Given the description of an element on the screen output the (x, y) to click on. 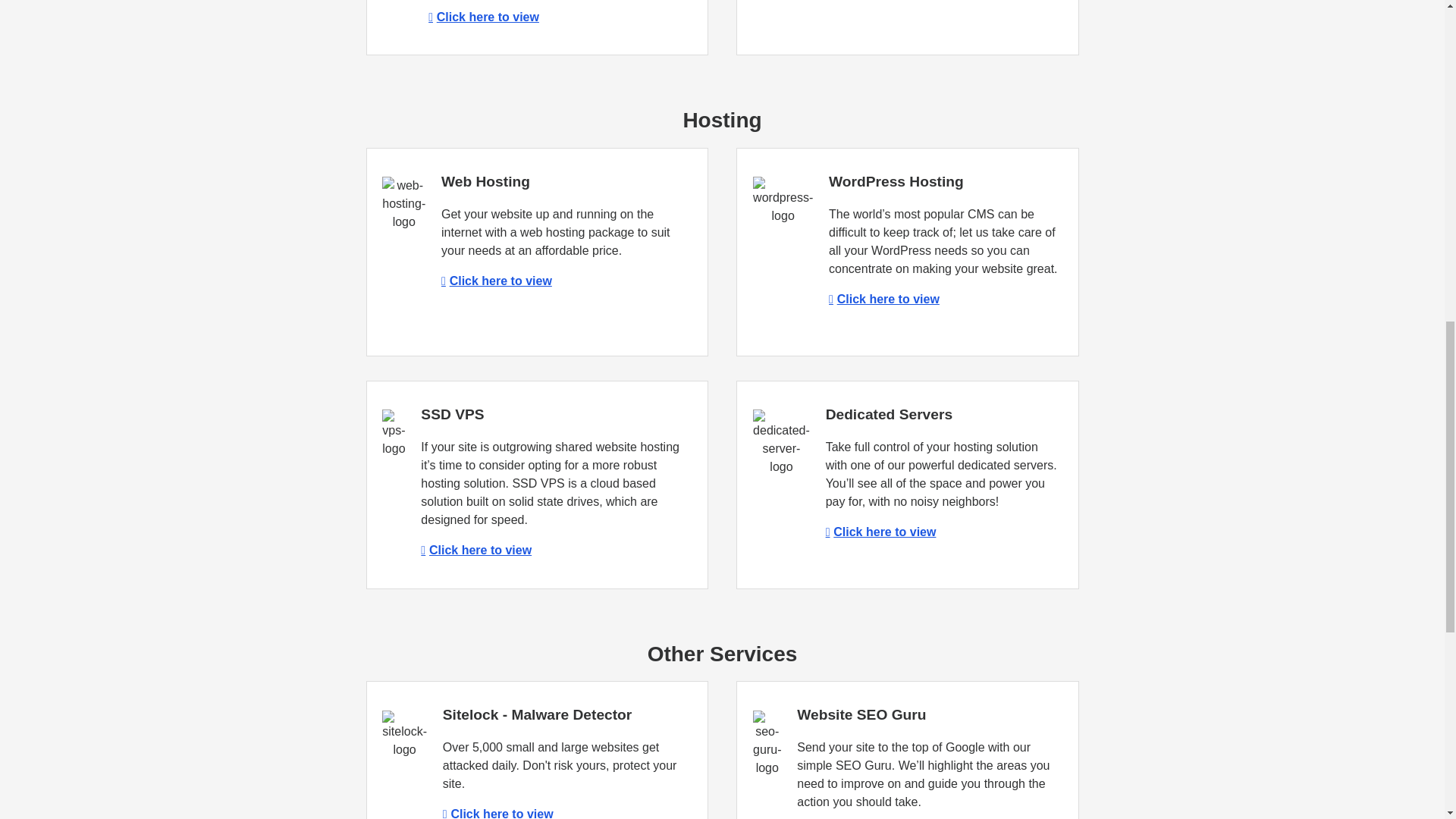
Click here to view (883, 298)
Click here to view (496, 280)
Click here to view (483, 16)
Click here to view (475, 549)
Click here to view (497, 813)
Click here to view (880, 531)
